Given the description of an element on the screen output the (x, y) to click on. 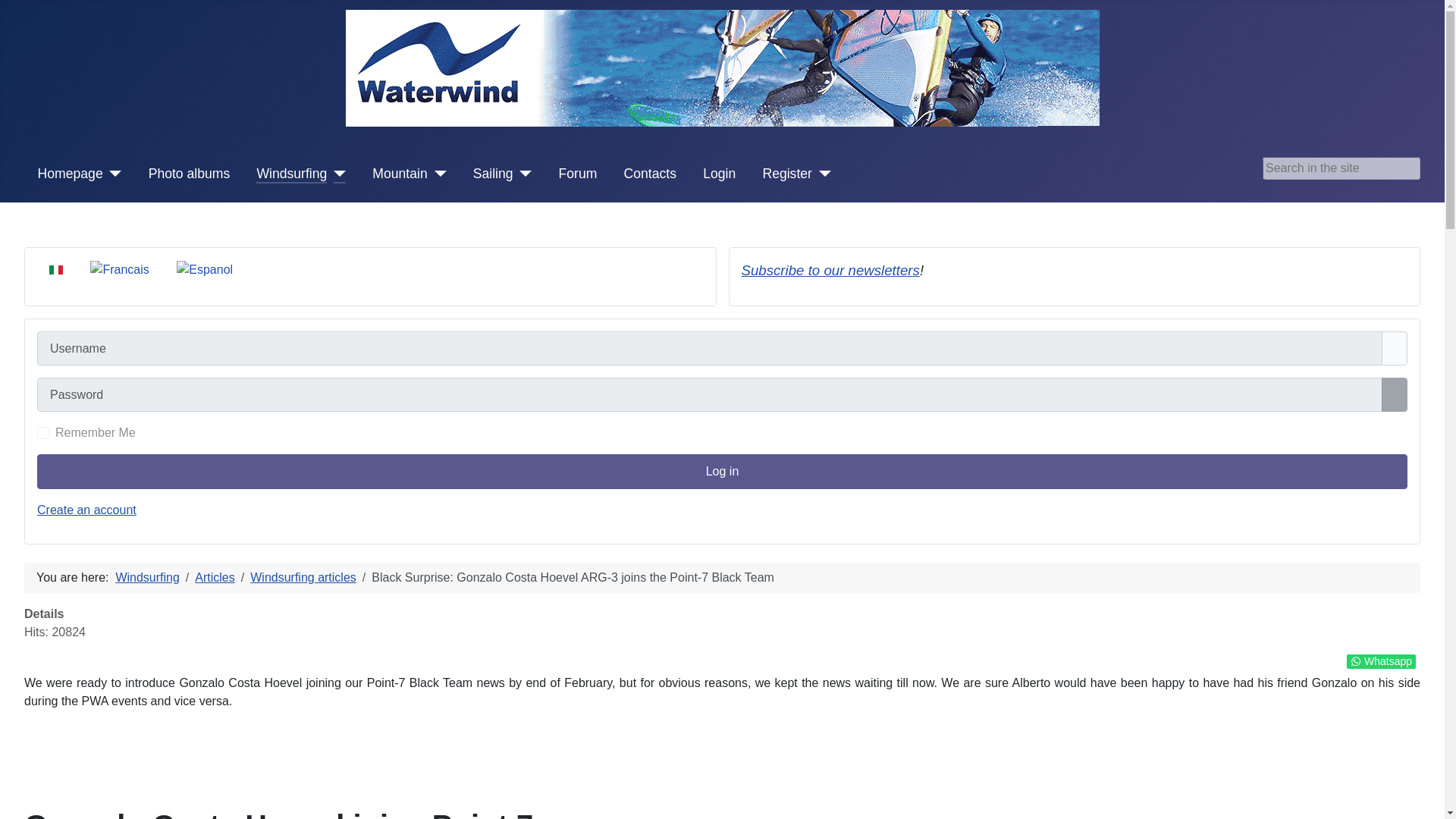
yes (43, 432)
Sailing (493, 173)
Mountain (399, 173)
Register (786, 173)
Francais (119, 270)
Homepage (70, 173)
Windsurfing (291, 173)
Photo albums (189, 173)
Forum (577, 173)
Login (719, 173)
